Given the description of an element on the screen output the (x, y) to click on. 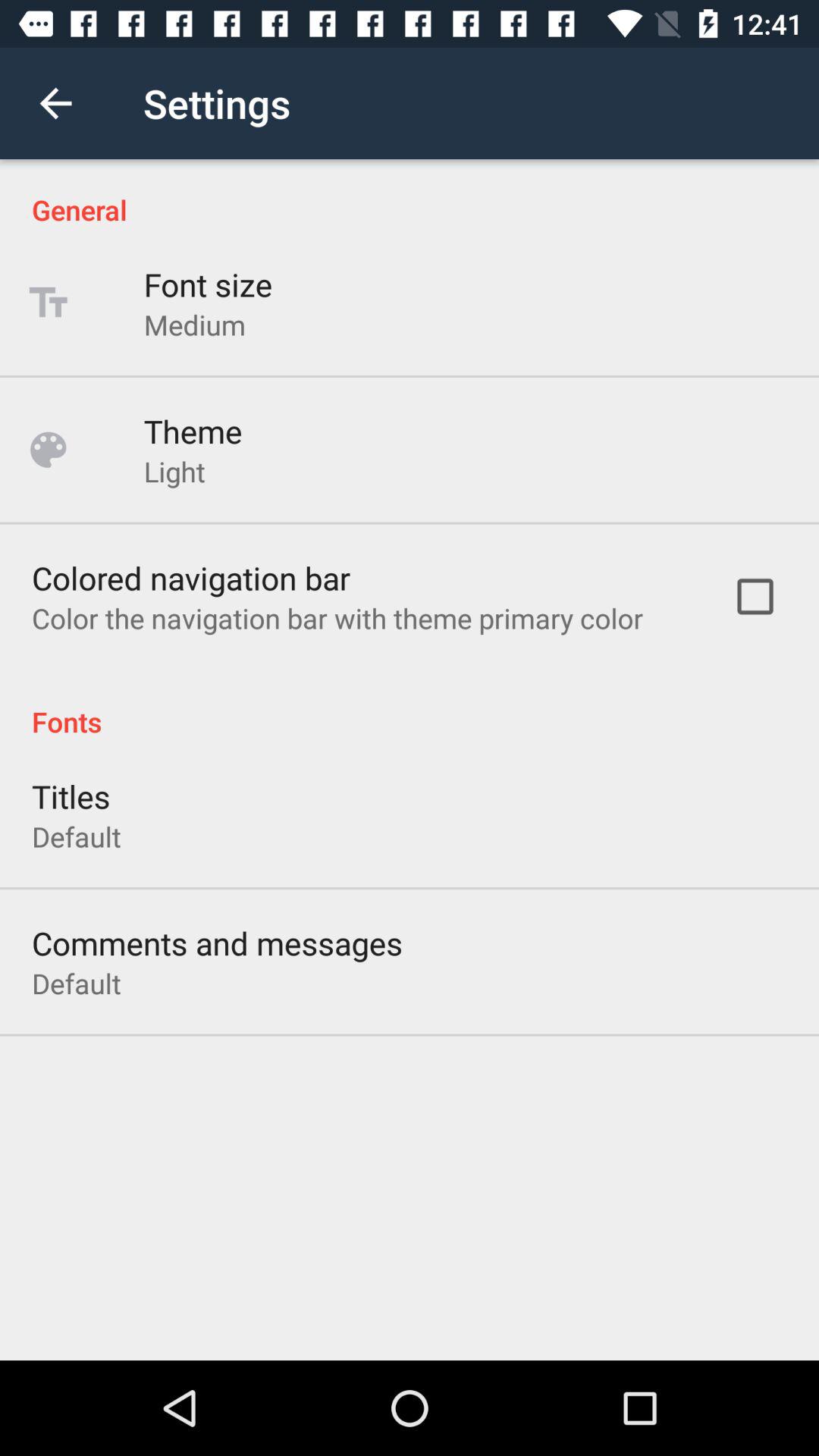
turn off icon above the default (70, 795)
